Given the description of an element on the screen output the (x, y) to click on. 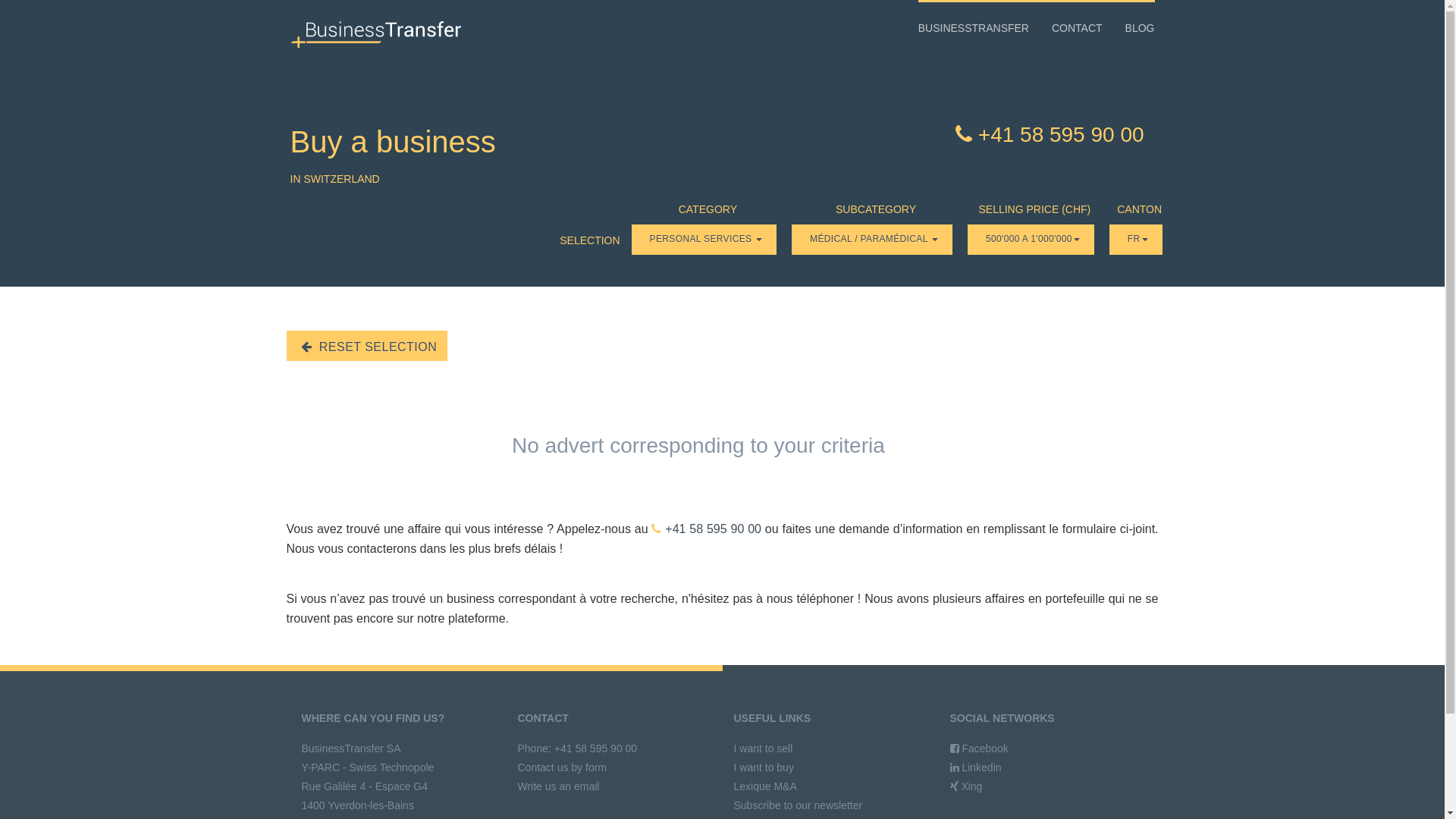
BUSINESSTRANSFER Element type: text (979, 27)
Xing Element type: text (965, 786)
Write us an email Element type: text (558, 786)
Linkedin Element type: text (975, 767)
Contact us by form Element type: text (561, 767)
FR Element type: text (1135, 239)
Facebook Element type: text (978, 748)
I want to sell Element type: text (763, 748)
+41 58 595 90 00 Element type: text (1049, 134)
I want to buy Element type: text (763, 767)
500'000 A 1'000'000 Element type: text (1030, 239)
Subscribe to our newsletter Element type: text (798, 805)
Lexique M&A Element type: text (765, 786)
+41 58 595 90 00 Element type: text (706, 528)
PERSONAL SERVICES Element type: text (704, 239)
CONTACT Element type: text (1076, 27)
  RESET SELECTION Element type: text (367, 345)
BLOG Element type: text (1133, 27)
